Given the description of an element on the screen output the (x, y) to click on. 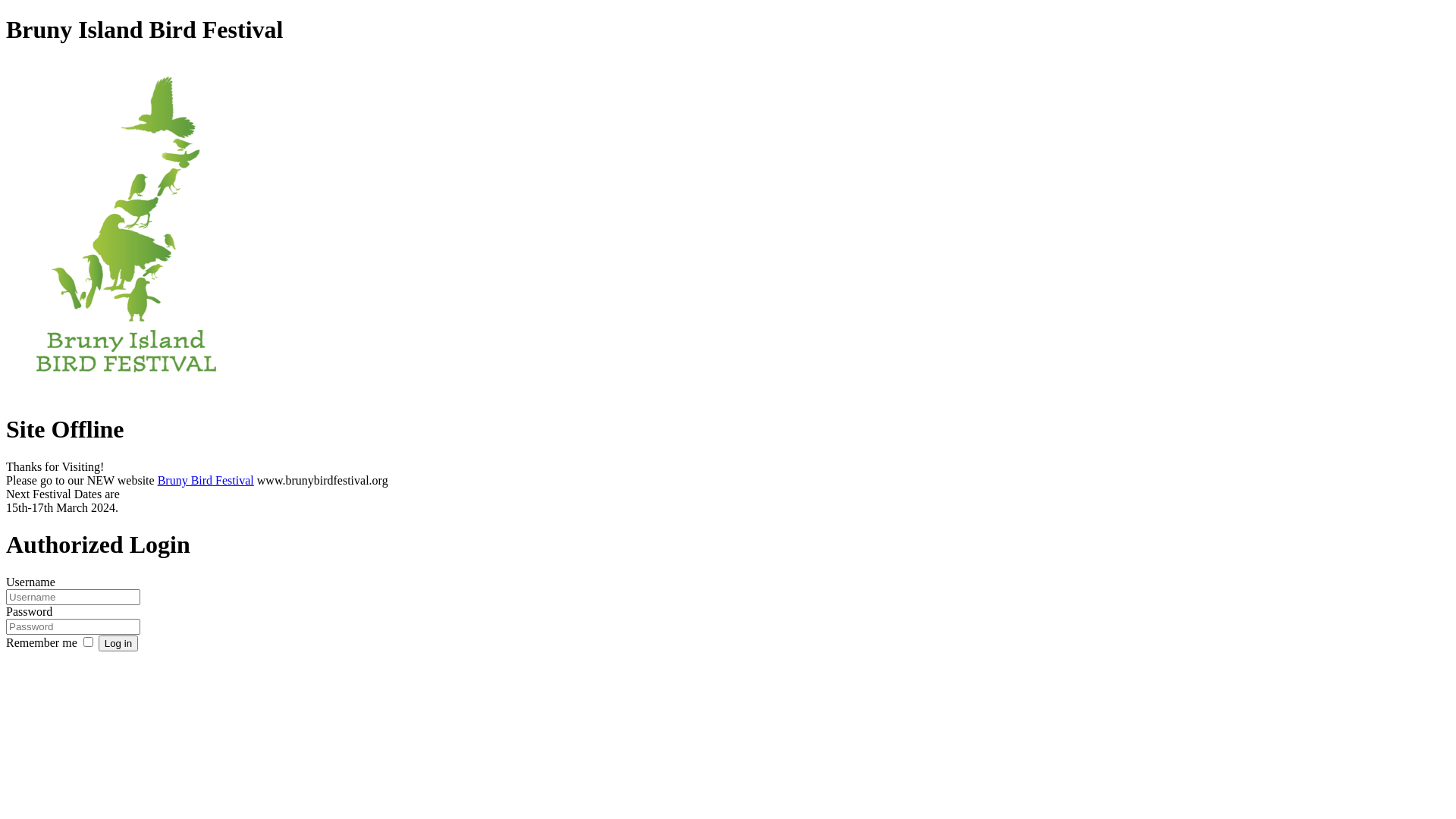
Bruny Bird Festival Element type: text (205, 479)
Log in Element type: text (118, 643)
